Given the description of an element on the screen output the (x, y) to click on. 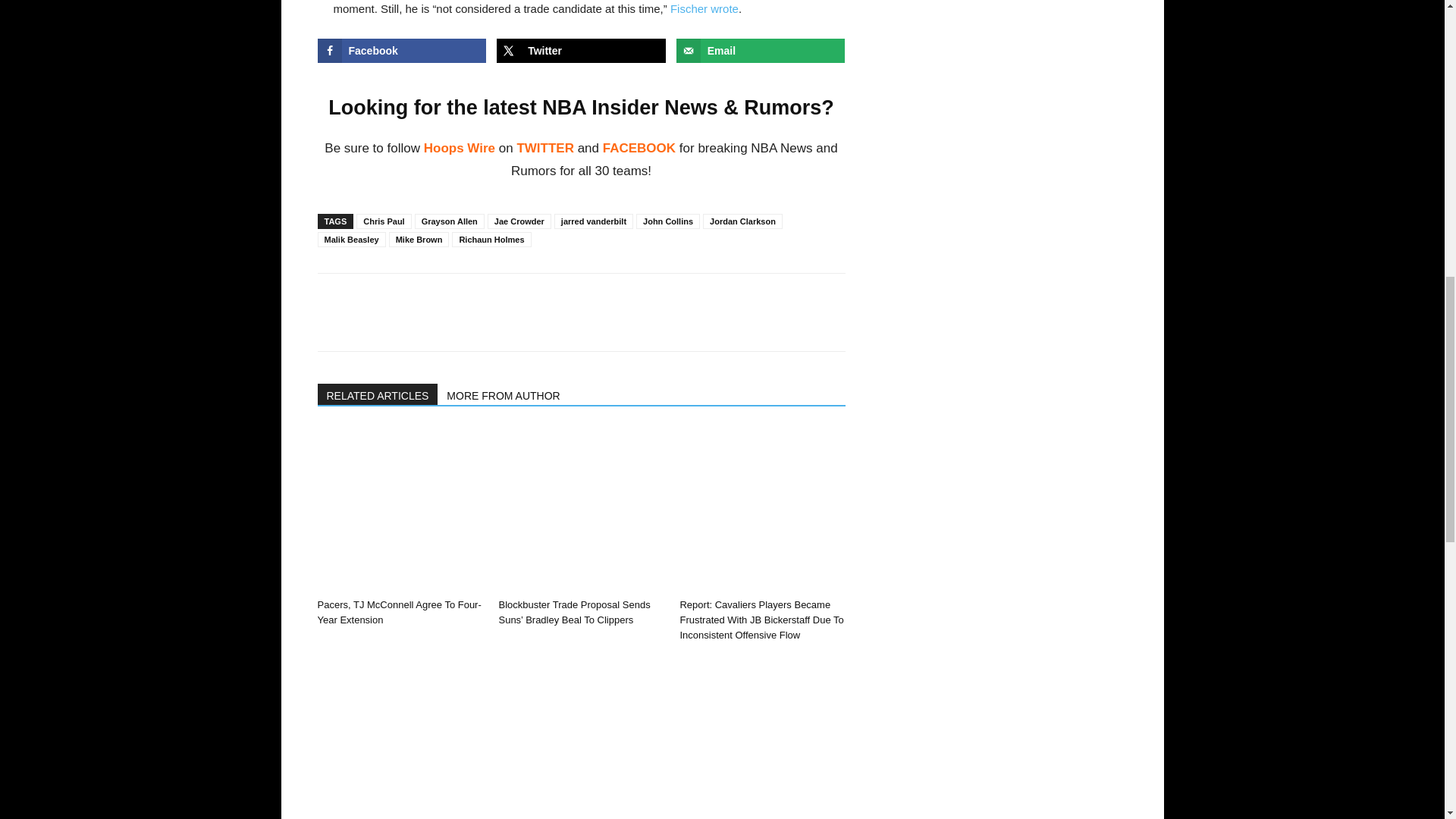
Send over email (761, 50)
Share on X (580, 50)
Share on Facebook (401, 50)
